Given the description of an element on the screen output the (x, y) to click on. 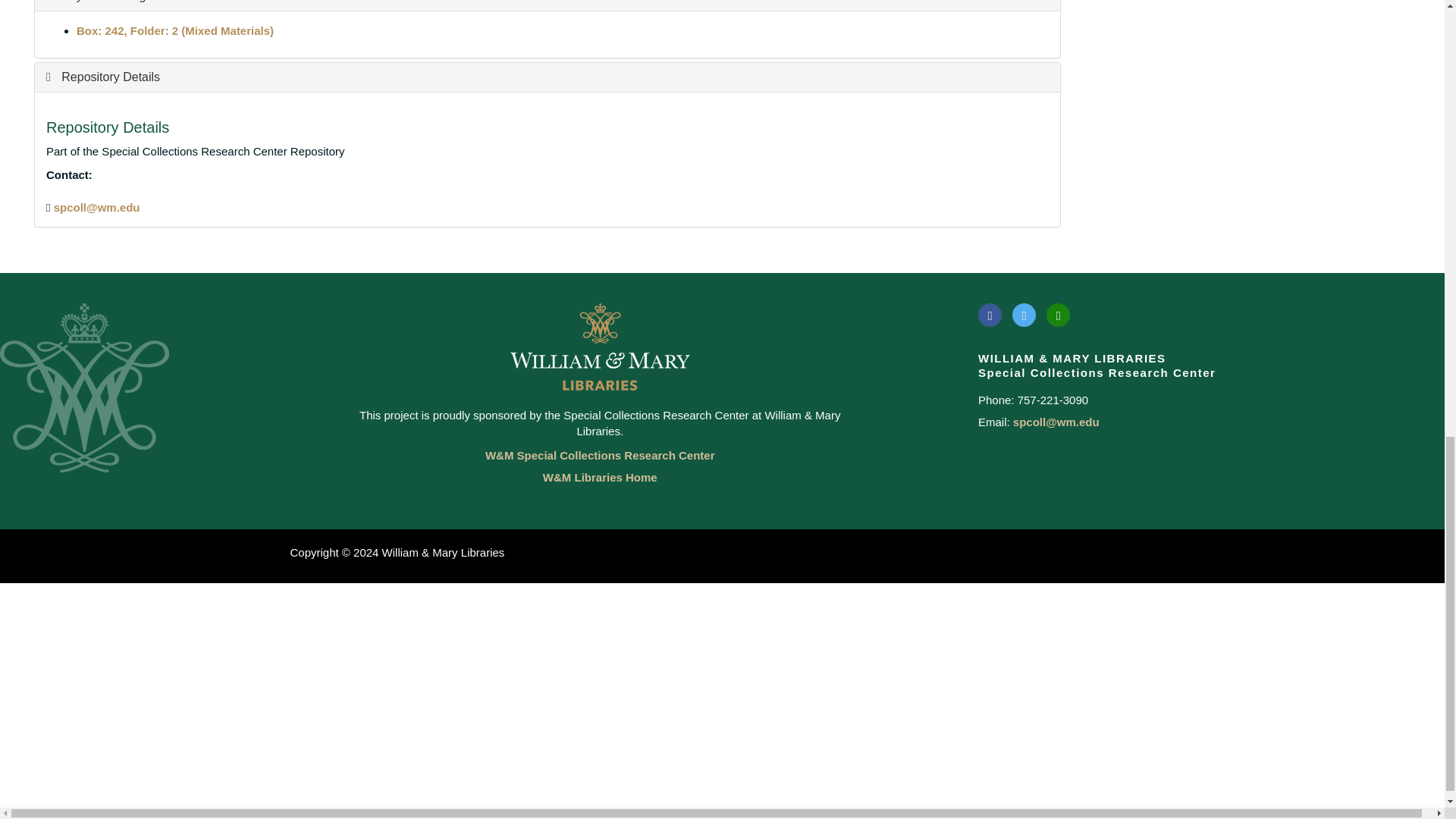
Special Collections Twitter (1023, 314)
Special Collections Blog (1058, 314)
Repository Details (103, 76)
Physical Storage Information (131, 1)
Send email (96, 206)
Special Collections Facebook (989, 314)
